Given the description of an element on the screen output the (x, y) to click on. 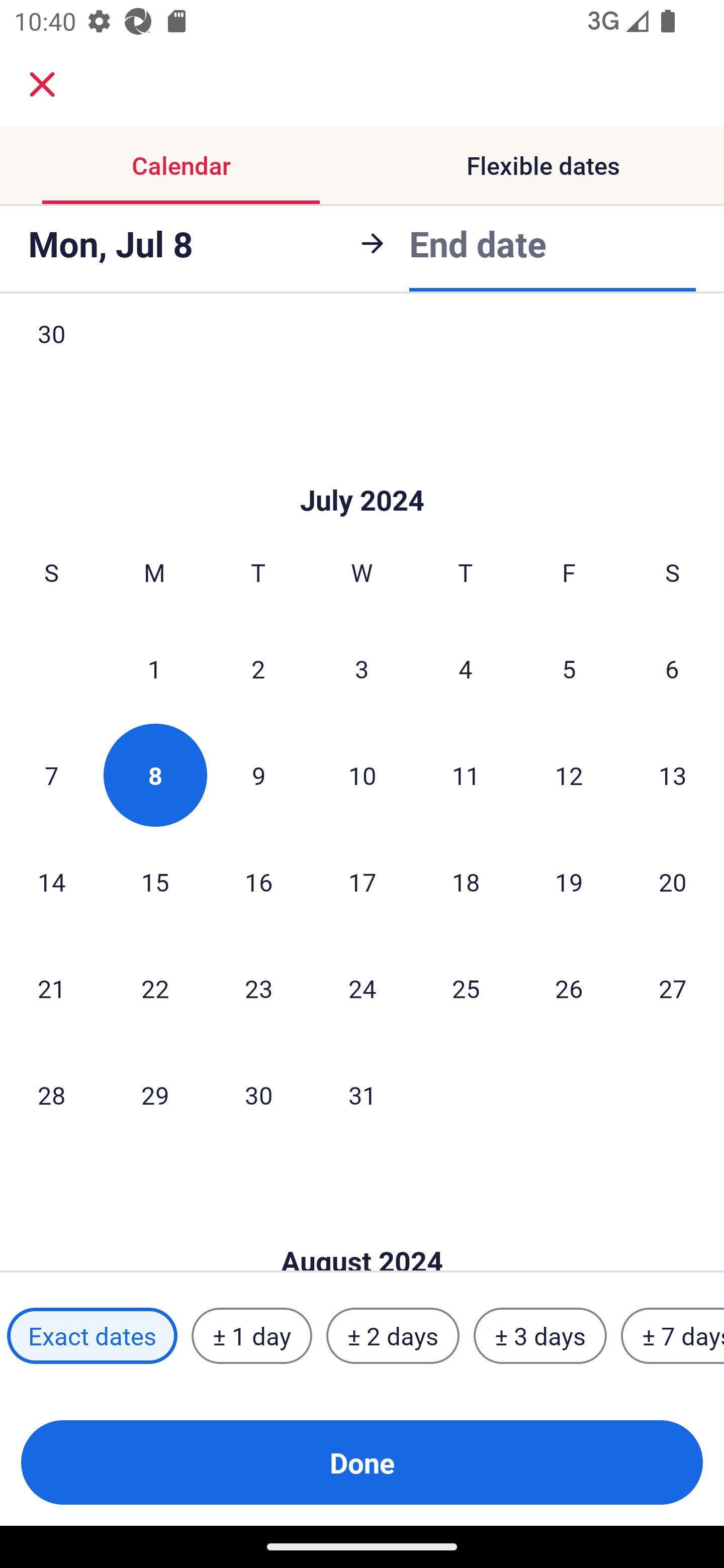
close. (42, 84)
Flexible dates (542, 164)
End date (477, 243)
30 Sunday, June 30, 2024 (51, 353)
Skip to Done (362, 470)
1 Monday, July 1, 2024 (154, 668)
2 Tuesday, July 2, 2024 (257, 668)
3 Wednesday, July 3, 2024 (361, 668)
4 Thursday, July 4, 2024 (465, 668)
5 Friday, July 5, 2024 (568, 668)
6 Saturday, July 6, 2024 (672, 668)
7 Sunday, July 7, 2024 (51, 775)
9 Tuesday, July 9, 2024 (258, 775)
10 Wednesday, July 10, 2024 (362, 775)
11 Thursday, July 11, 2024 (465, 775)
12 Friday, July 12, 2024 (569, 775)
13 Saturday, July 13, 2024 (672, 775)
14 Sunday, July 14, 2024 (51, 880)
15 Monday, July 15, 2024 (155, 880)
16 Tuesday, July 16, 2024 (258, 880)
17 Wednesday, July 17, 2024 (362, 880)
18 Thursday, July 18, 2024 (465, 880)
19 Friday, July 19, 2024 (569, 880)
20 Saturday, July 20, 2024 (672, 880)
21 Sunday, July 21, 2024 (51, 987)
22 Monday, July 22, 2024 (155, 987)
23 Tuesday, July 23, 2024 (258, 987)
24 Wednesday, July 24, 2024 (362, 987)
25 Thursday, July 25, 2024 (465, 987)
26 Friday, July 26, 2024 (569, 987)
27 Saturday, July 27, 2024 (672, 987)
28 Sunday, July 28, 2024 (51, 1094)
29 Monday, July 29, 2024 (155, 1094)
30 Tuesday, July 30, 2024 (258, 1094)
31 Wednesday, July 31, 2024 (362, 1094)
Skip to Done (362, 1230)
Exact dates (92, 1335)
± 1 day (251, 1335)
± 2 days (392, 1335)
± 3 days (539, 1335)
± 7 days (672, 1335)
Done (361, 1462)
